Given the description of an element on the screen output the (x, y) to click on. 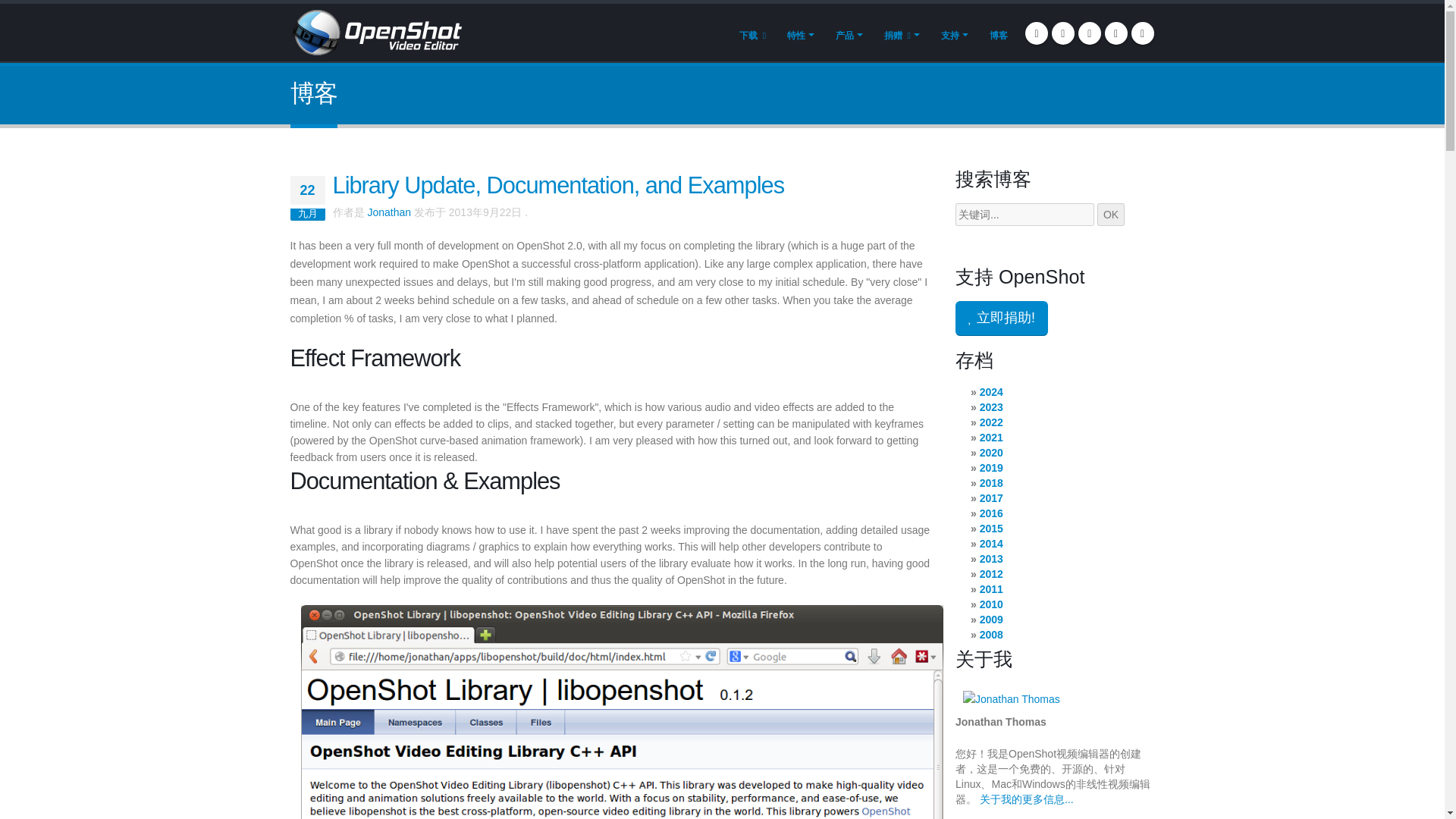
OK (1110, 214)
